Given the description of an element on the screen output the (x, y) to click on. 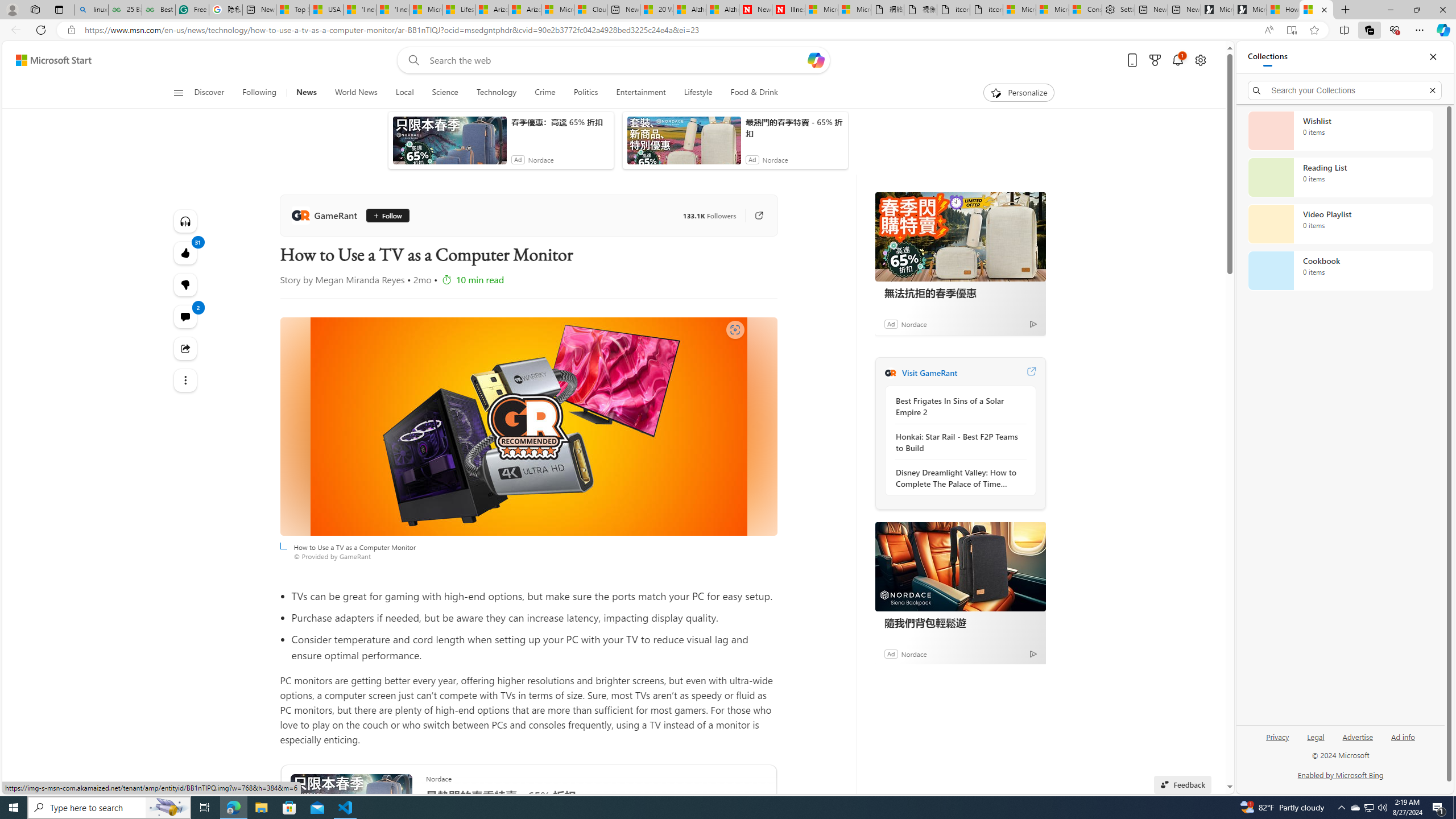
Crime (544, 92)
Microsoft account | Privacy (1052, 9)
Exit search (1432, 90)
Open Copilot (815, 59)
GameRant (326, 215)
Reading List collection, 0 items (1339, 177)
Lifestyle (697, 92)
Ad info (1402, 736)
Privacy (1277, 741)
Microsoft Start Gaming (1249, 9)
